Given the description of an element on the screen output the (x, y) to click on. 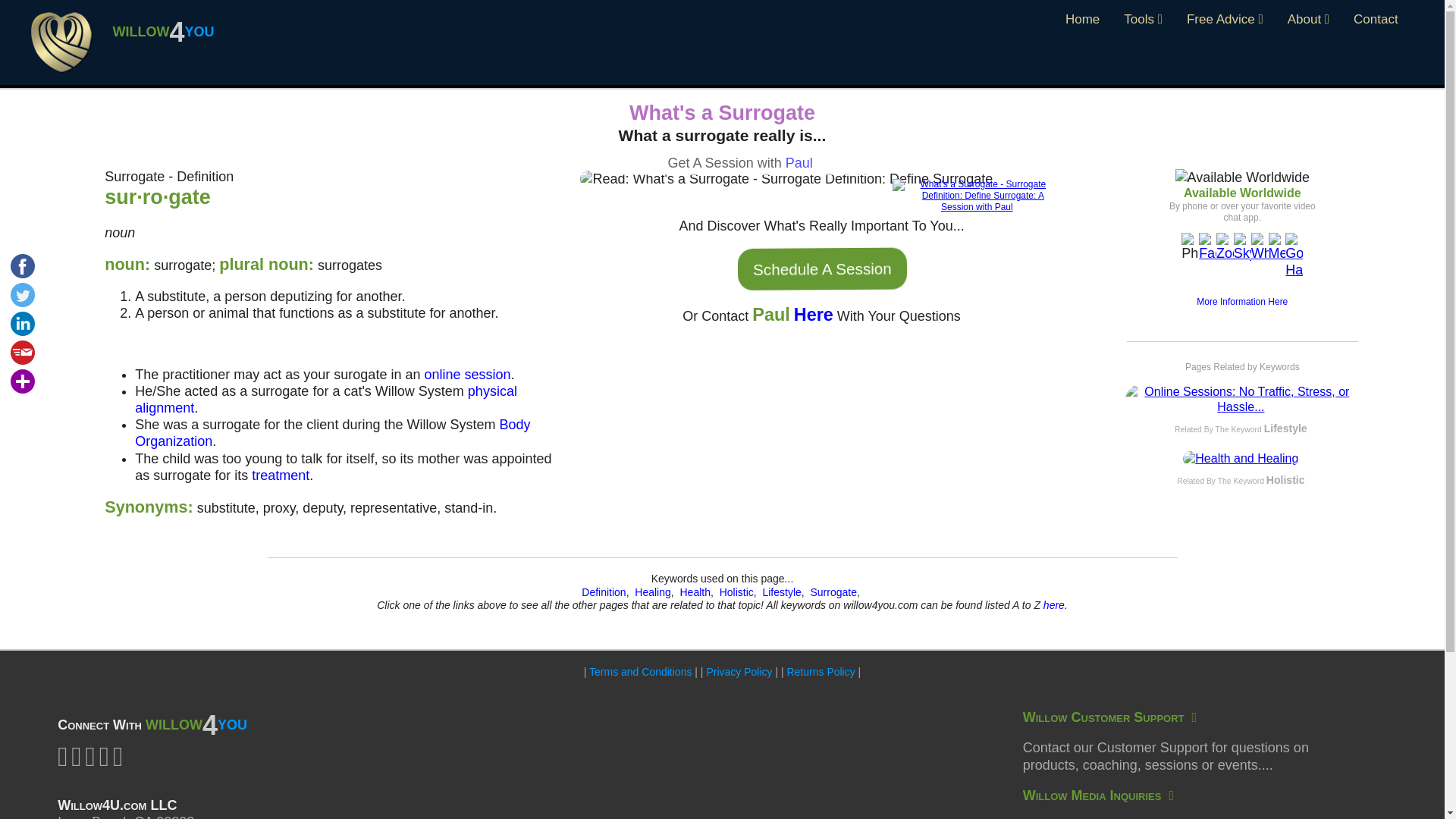
Be Ready For Anything And Functioning Optimally (279, 475)
Free Advice (1224, 19)
A practitioner may act as a surogate (467, 374)
Contact (1375, 19)
Inquiries (1098, 795)
More about Paul E Harrison and his Willow System Sessions (799, 162)
More Balanced With a Body Organization (332, 432)
